Given the description of an element on the screen output the (x, y) to click on. 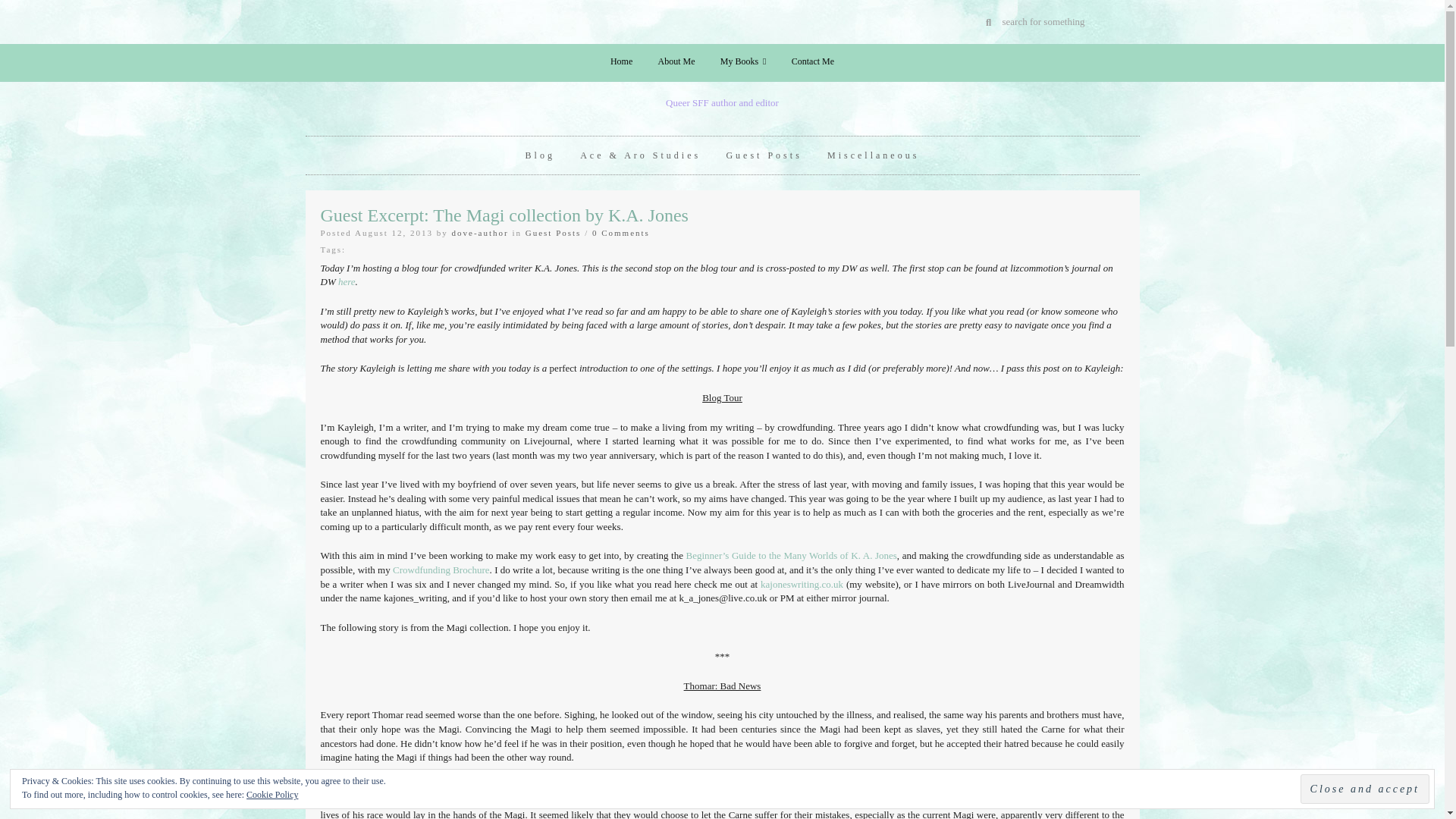
Close and accept (1364, 788)
Miscellaneous (872, 155)
Guest Posts (763, 155)
Crowdfunding Brochure (441, 569)
dove-author (479, 232)
My Books   (743, 61)
0 Comments (620, 232)
kajoneswriting.co.uk (801, 583)
Cookie Policy (272, 794)
Crowdfunding Brochure PDF (441, 569)
Blog (539, 155)
Home (620, 61)
View all posts in Guest Posts (552, 232)
here (346, 281)
Close and accept (1364, 788)
